Given the description of an element on the screen output the (x, y) to click on. 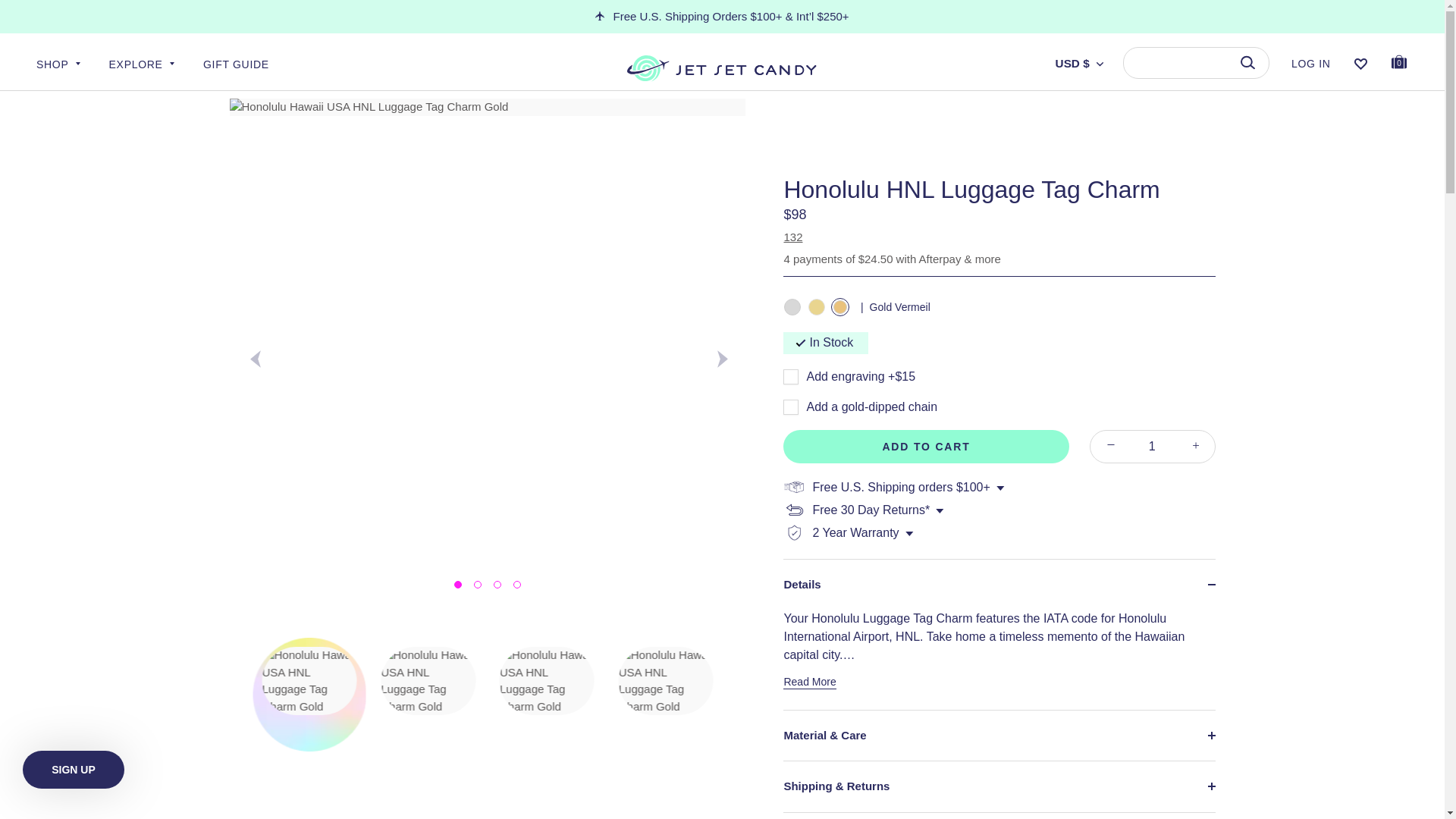
SHOP (70, 73)
- (790, 406)
yes (790, 376)
